Given the description of an element on the screen output the (x, y) to click on. 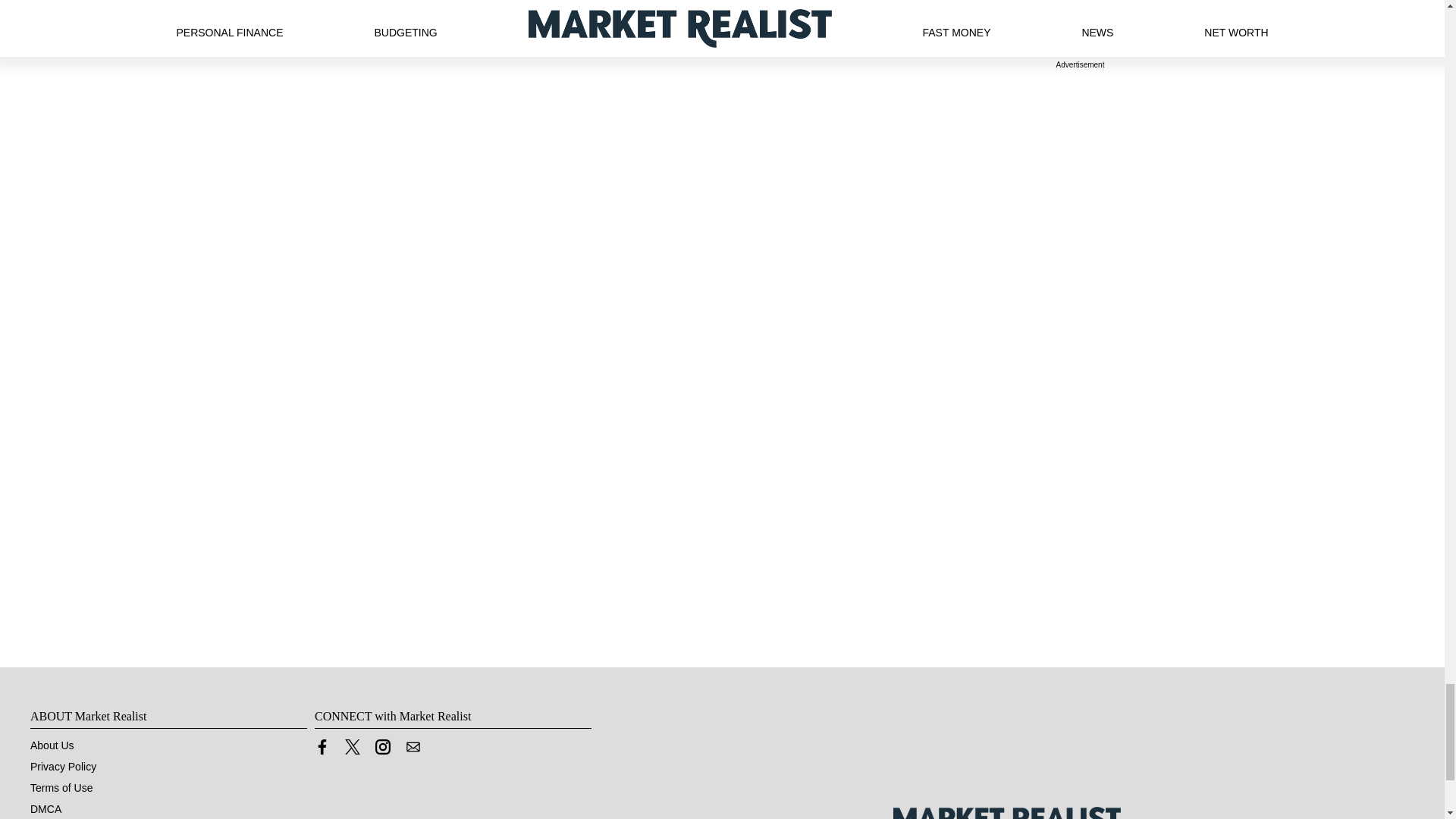
About Us (52, 745)
DMCA (45, 808)
Link to Facebook (322, 750)
Link to Instagram (382, 746)
Contact us by Email (413, 746)
DMCA (45, 808)
Privacy Policy (63, 766)
Terms of Use (61, 787)
About Us (52, 745)
Privacy Policy (63, 766)
Link to X (352, 746)
Link to Instagram (382, 750)
Link to Facebook (322, 746)
Link to X (352, 750)
Contact us by Email (413, 750)
